Given the description of an element on the screen output the (x, y) to click on. 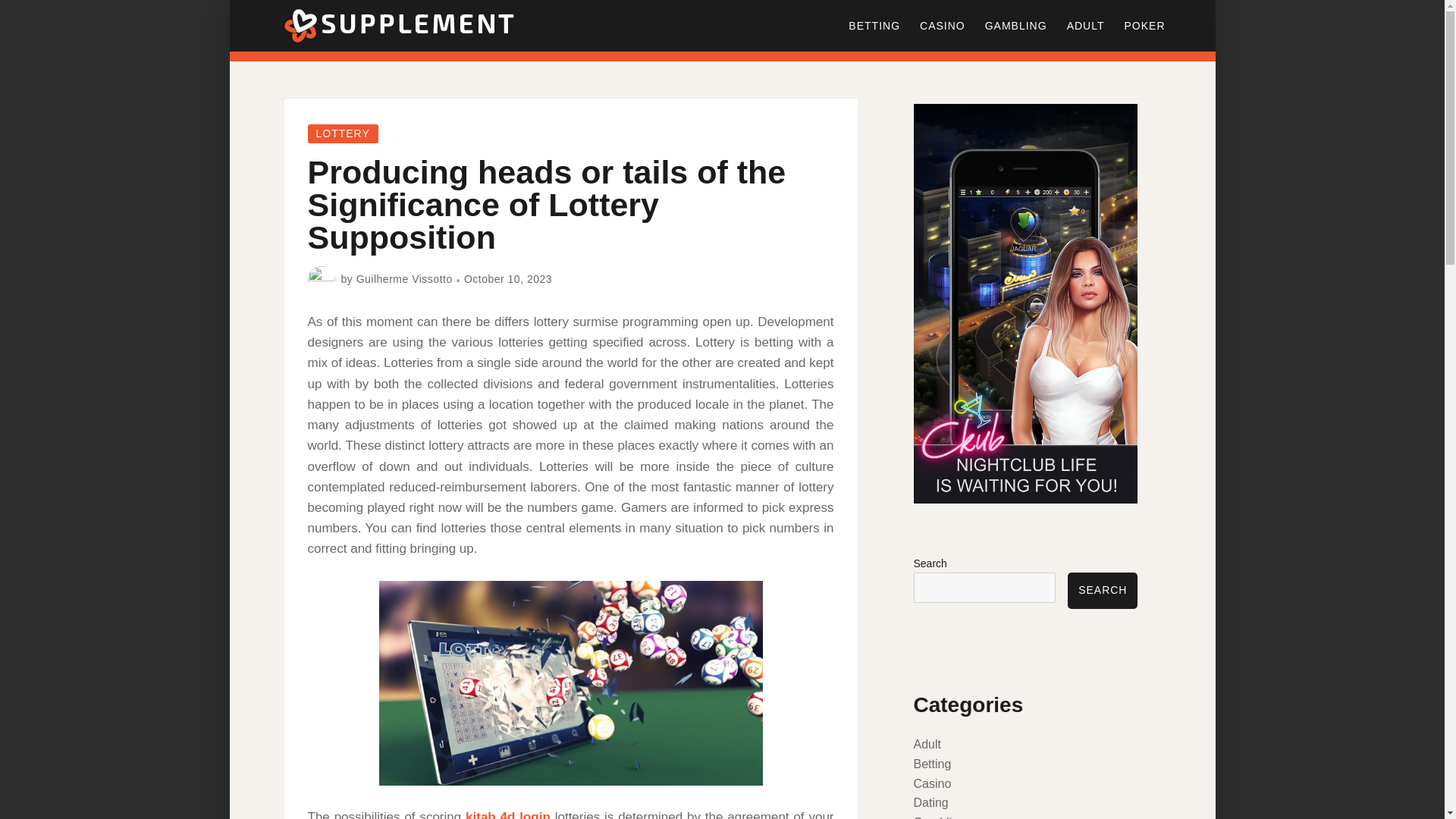
POKER (1143, 25)
LOTTERY (342, 133)
ADULT (1086, 25)
October 10, 2023 (507, 278)
Casino (931, 783)
kitab 4d login (507, 814)
BETTING (874, 25)
SEARCH (1102, 590)
Dating (929, 802)
GAMBLING (1016, 25)
